Given the description of an element on the screen output the (x, y) to click on. 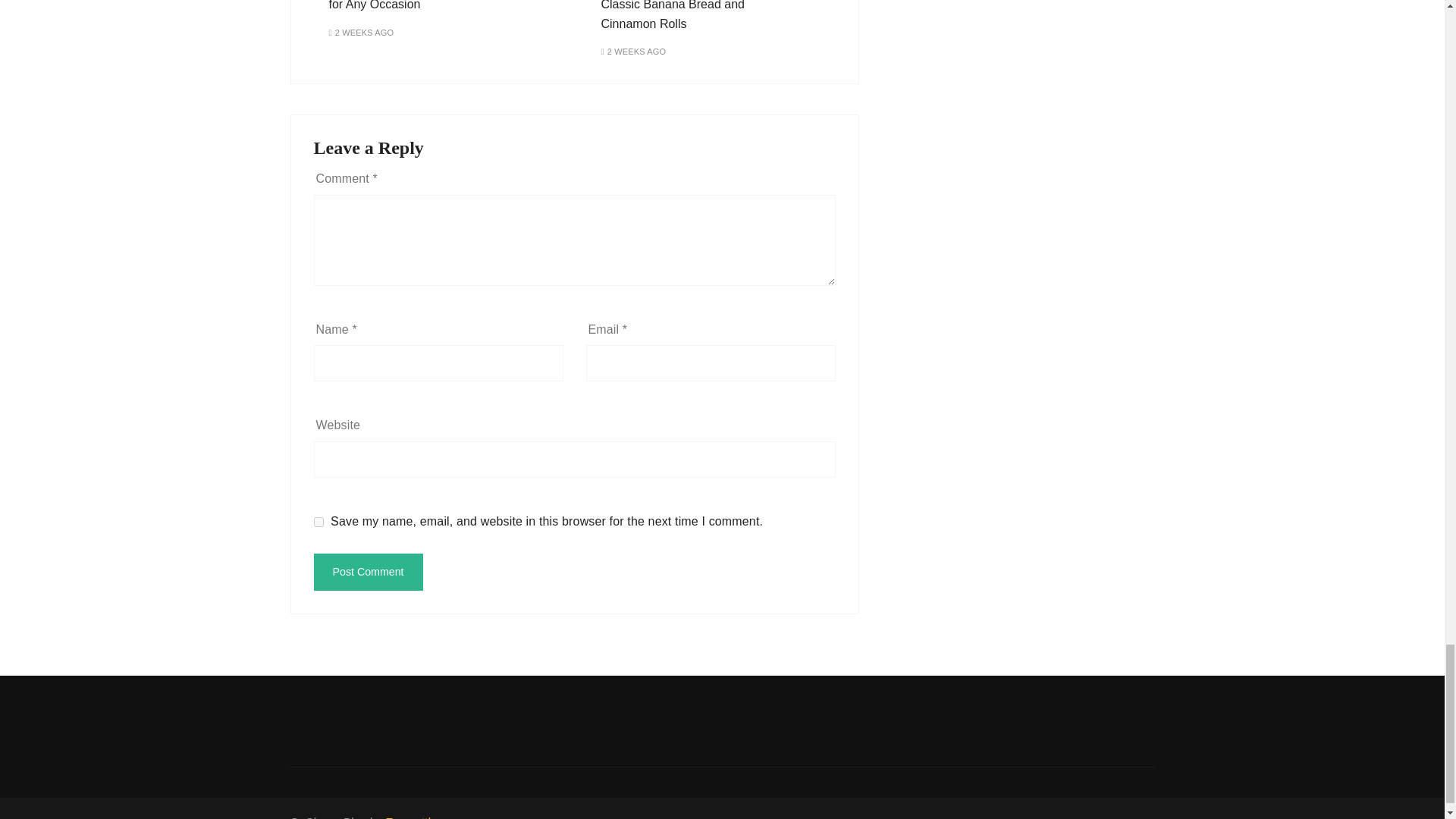
Post Comment (368, 571)
Post Comment (368, 571)
yes (318, 521)
